Given the description of an element on the screen output the (x, y) to click on. 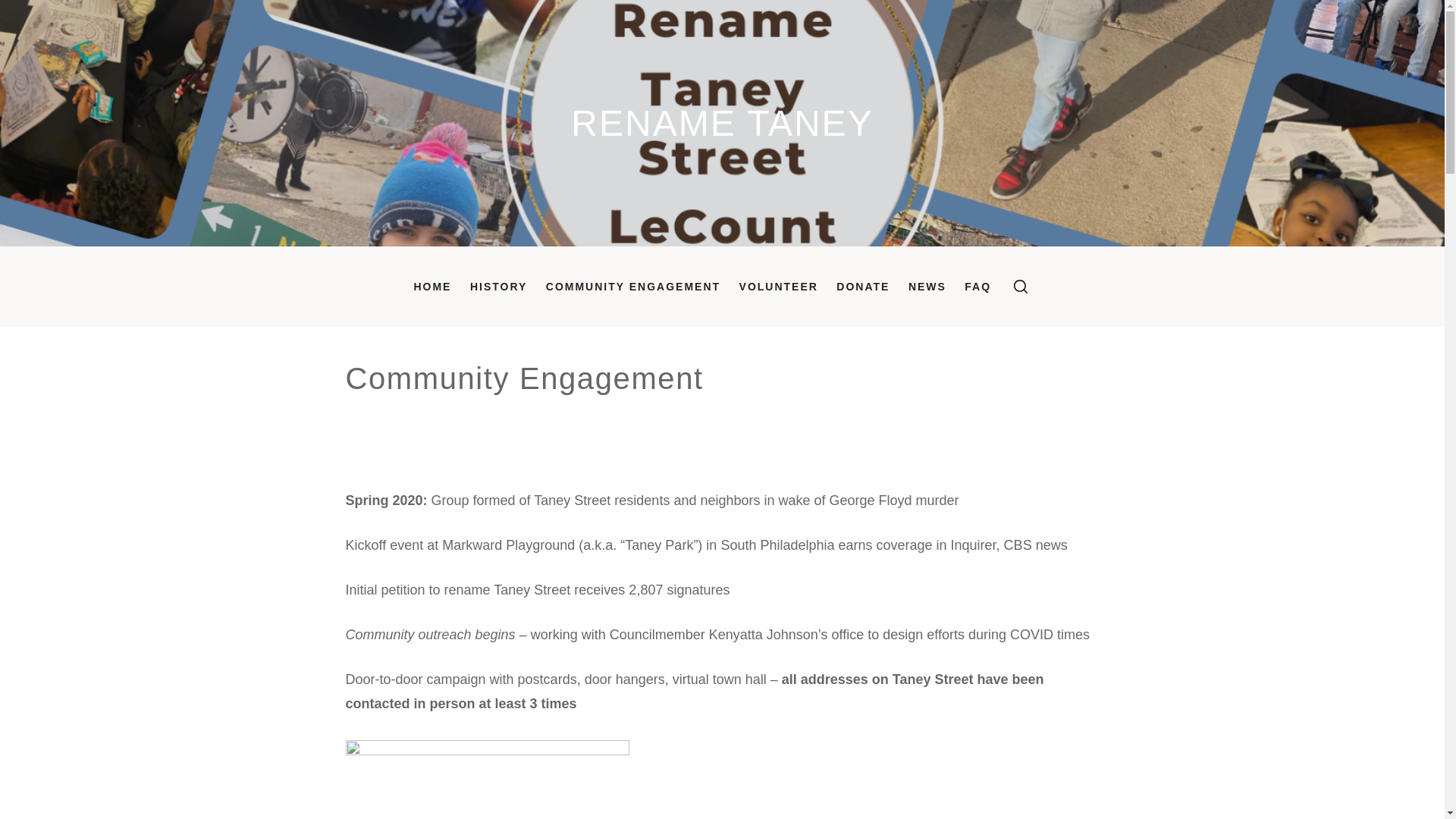
COMMUNITY ENGAGEMENT (633, 286)
NEWS (927, 286)
VOLUNTEER (778, 286)
HISTORY (498, 286)
Search (797, 409)
DONATE (862, 286)
HOME (432, 286)
FAQ (977, 286)
RENAME TANEY (721, 123)
